Given the description of an element on the screen output the (x, y) to click on. 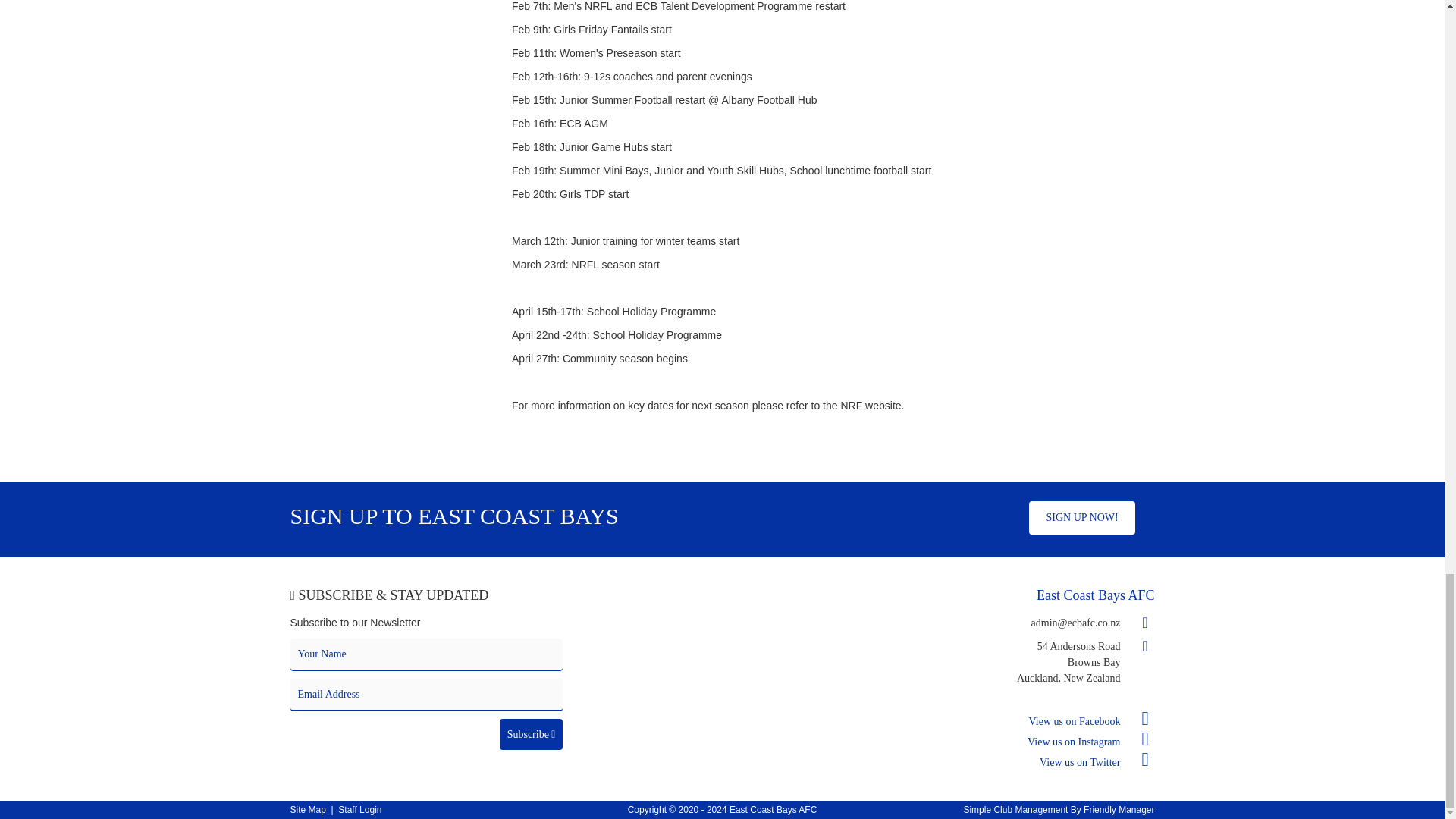
View us on Instagram (1090, 741)
View us on Twitter (1096, 762)
View us on Facebook (1091, 721)
View the Site Map for East Coast Bays AFC (306, 809)
Login to East Coast Bays AFC (359, 809)
